Given the description of an element on the screen output the (x, y) to click on. 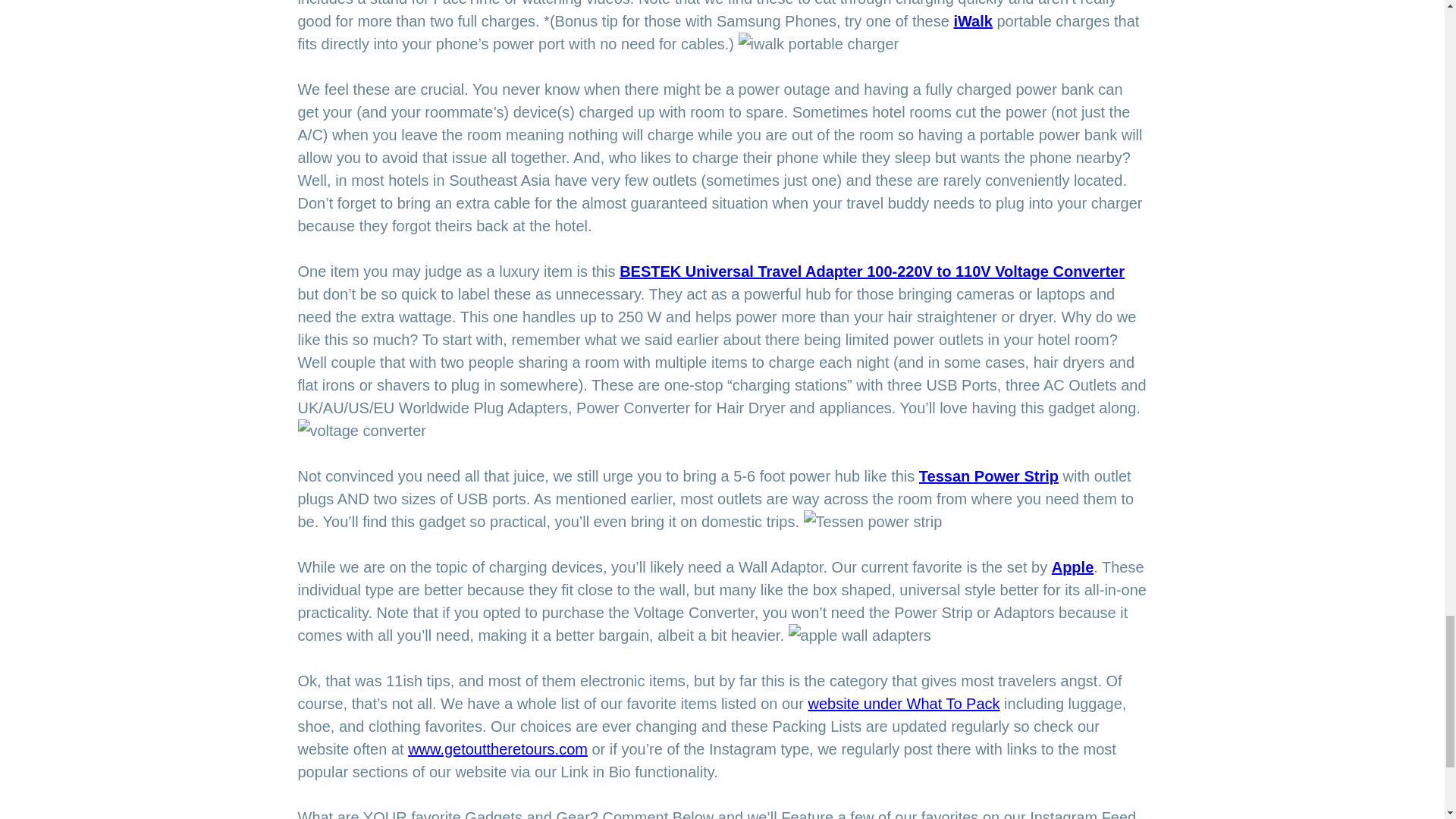
website under What To Pack (903, 703)
iWalk (972, 21)
www.getouttheretours.com (497, 749)
Apple (1072, 566)
Tessan Power Strip (988, 475)
